Given the description of an element on the screen output the (x, y) to click on. 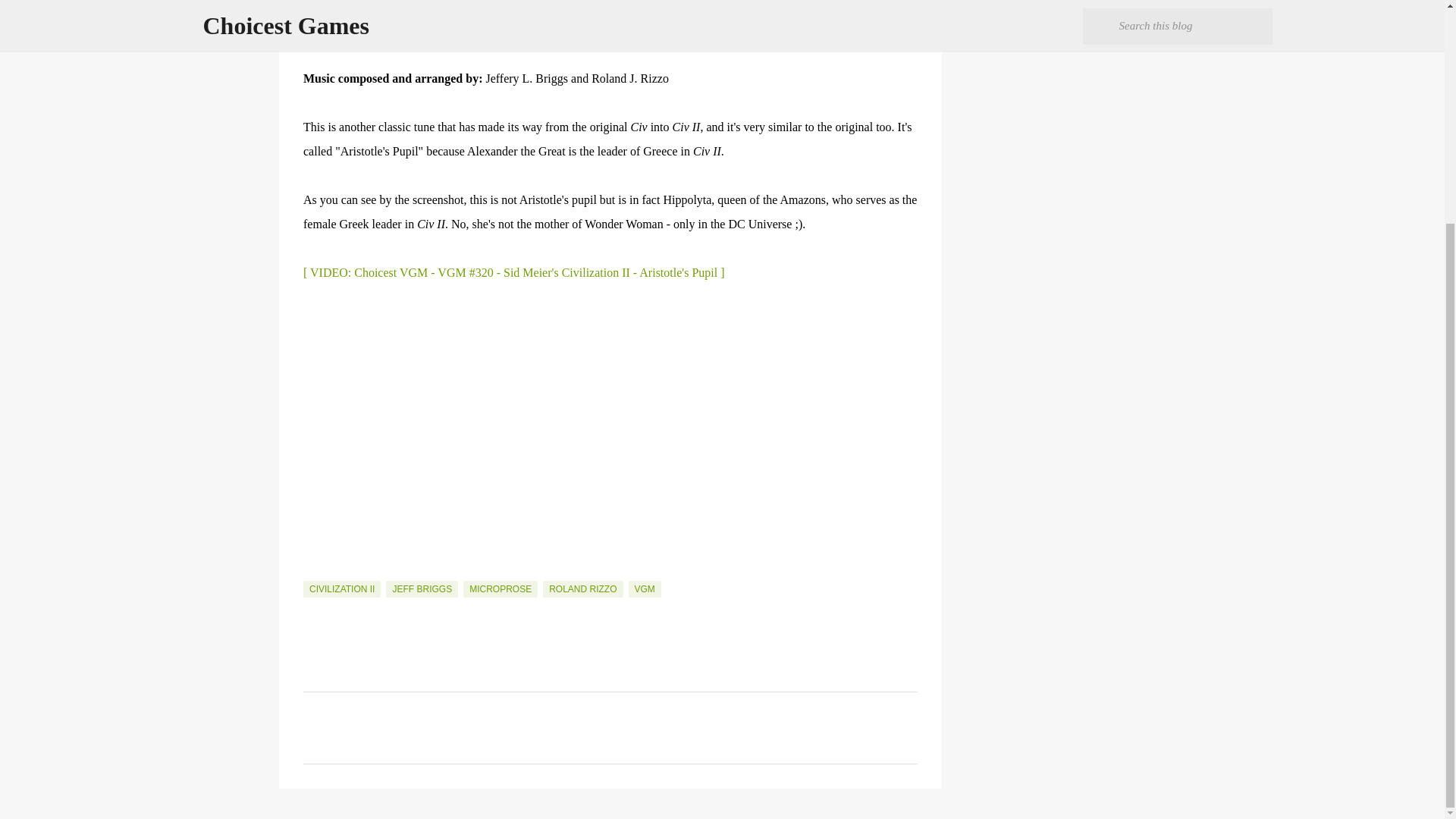
MICROPROSE (500, 588)
CIVILIZATION II (341, 588)
ROLAND RIZZO (583, 588)
JEFF BRIGGS (421, 588)
Email Post (311, 571)
No WONDER WOOOOMAN in sight (609, 14)
VGM (644, 588)
